Given the description of an element on the screen output the (x, y) to click on. 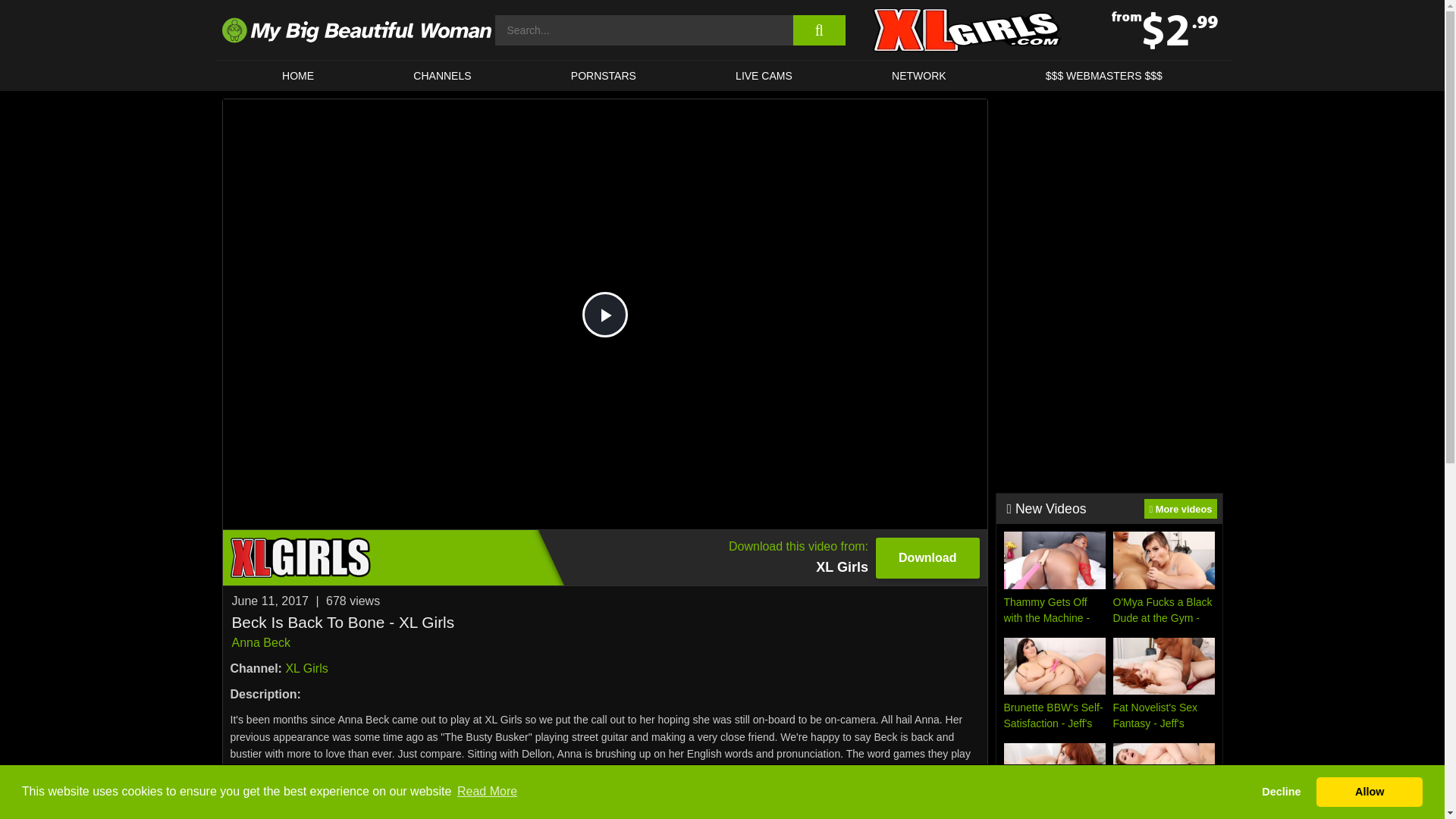
Read more (604, 798)
HOME (296, 75)
Play Video (604, 313)
XL Girls (306, 667)
NETWORK (604, 557)
PORNSTARS (918, 75)
Anna Beck (603, 75)
LIVE CAMS (260, 642)
CHANNELS (763, 75)
Play Video (442, 75)
